Given the description of an element on the screen output the (x, y) to click on. 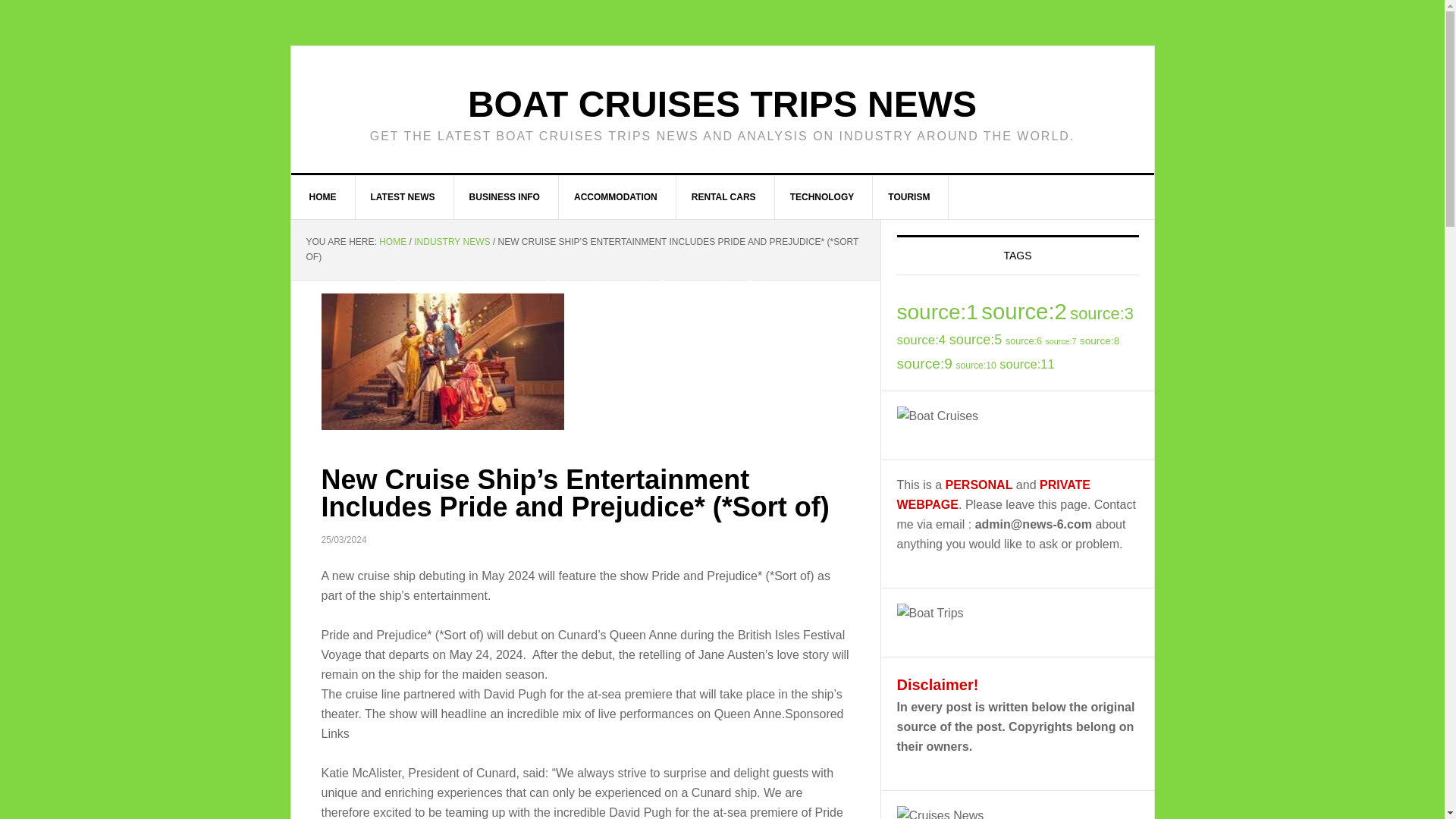
RENTAL CARS (723, 197)
rent a boat lindos (735, 283)
TOURISM (909, 197)
private boat trips lindos (634, 283)
INDUSTRY NEWS (451, 241)
TECHNOLOGY (822, 197)
rodos website construction (330, 50)
BOAT CRUISES TRIPS NEWS (721, 104)
watersports rhodes (529, 283)
boat rental rhodes (437, 283)
HOME (392, 241)
HOME (323, 197)
LATEST NEWS (402, 197)
BUSINESS INFO (505, 197)
ACCOMMODATION (616, 197)
